Given the description of an element on the screen output the (x, y) to click on. 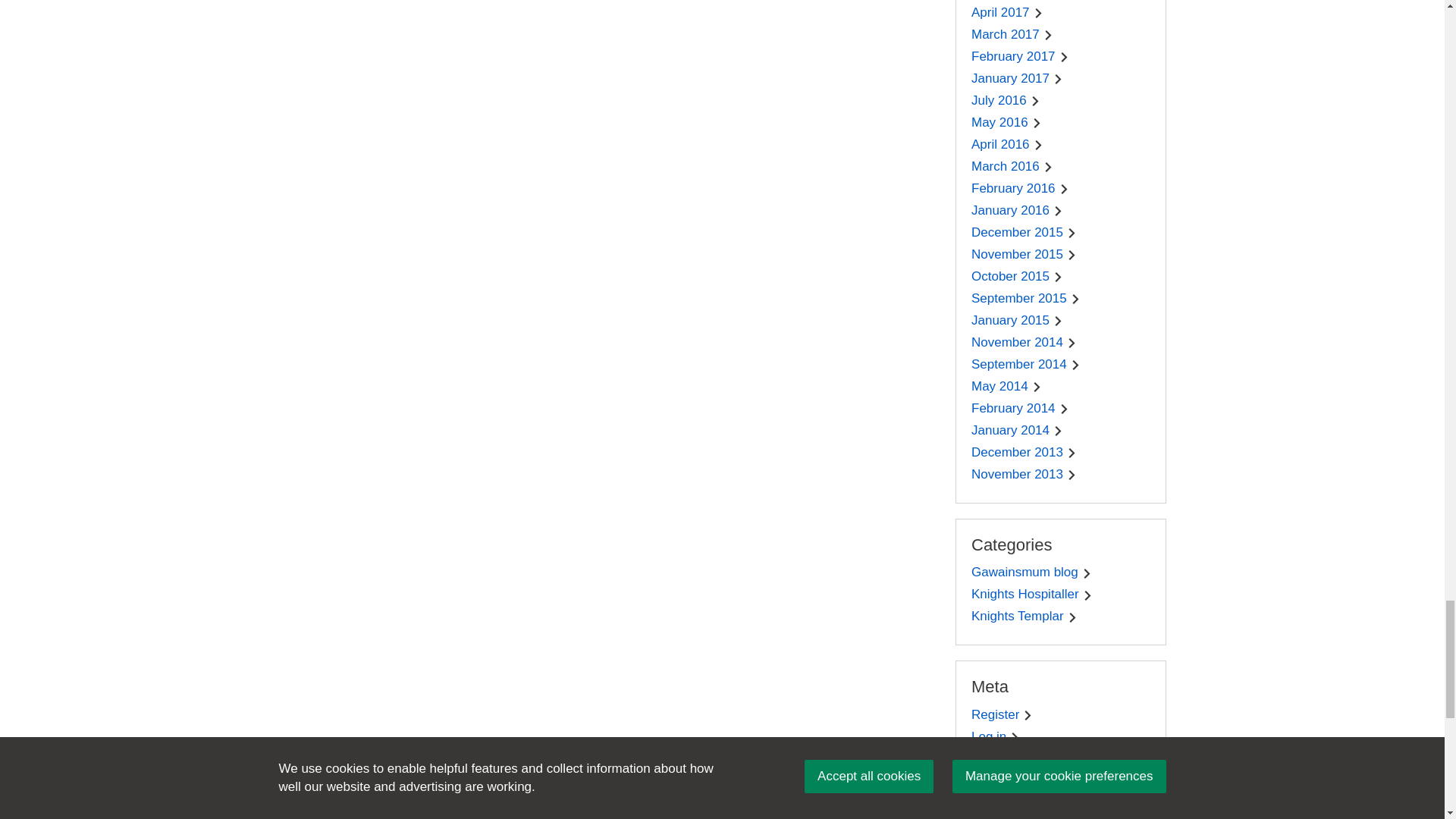
Chevron right (1057, 79)
Chevron right (1047, 35)
Chevron right (1038, 13)
Chevron right (1063, 57)
